Given the description of an element on the screen output the (x, y) to click on. 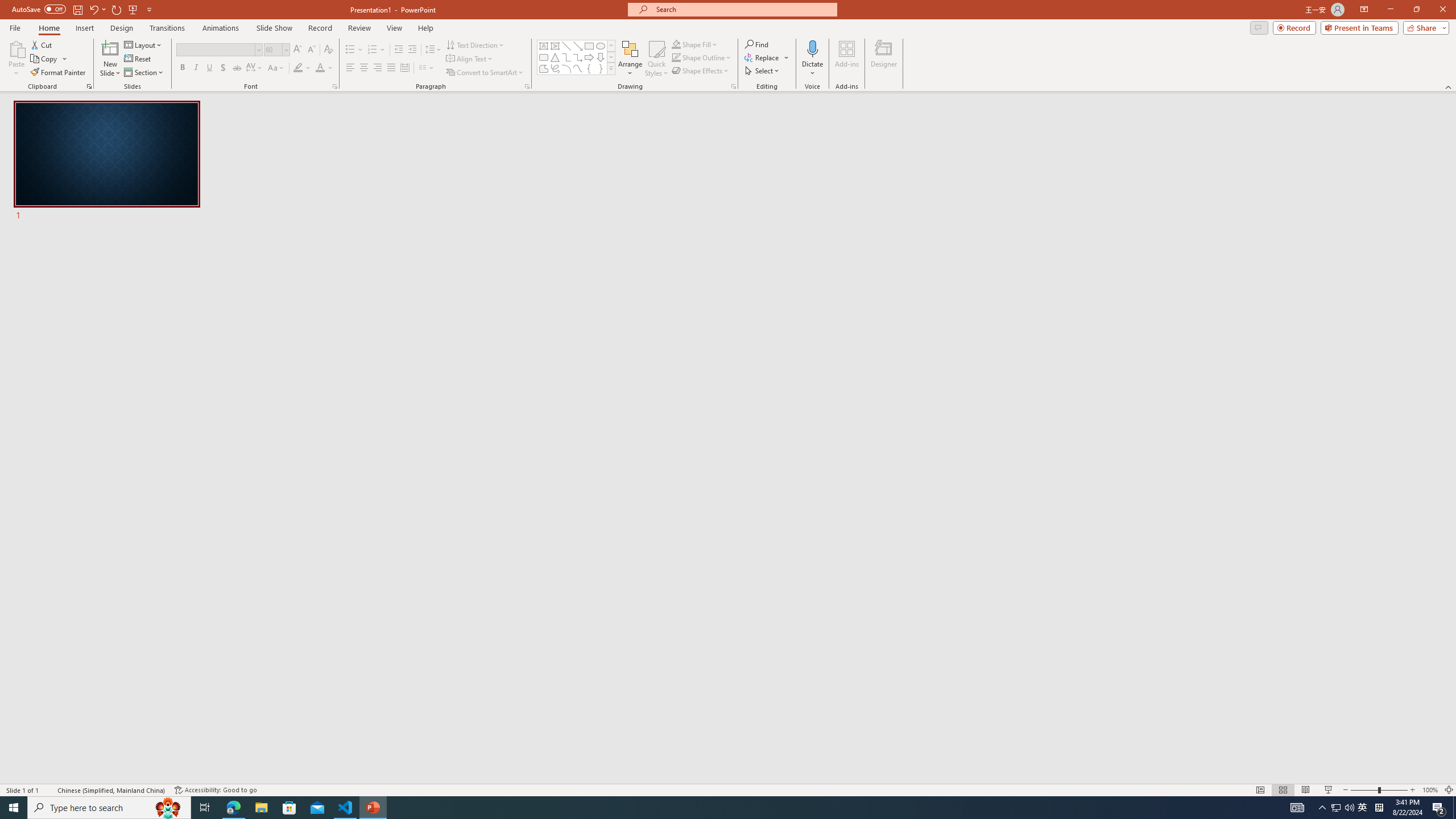
Freeform: Shape (543, 68)
Format Painter (58, 72)
Justify (390, 67)
Rectangle (589, 45)
Font (215, 49)
Layout (143, 44)
Line Arrow (577, 45)
AutomationID: ShapesInsertGallery (576, 57)
Italic (195, 67)
Underline (209, 67)
Vertical Text Box (554, 45)
Slide (106, 161)
